Given the description of an element on the screen output the (x, y) to click on. 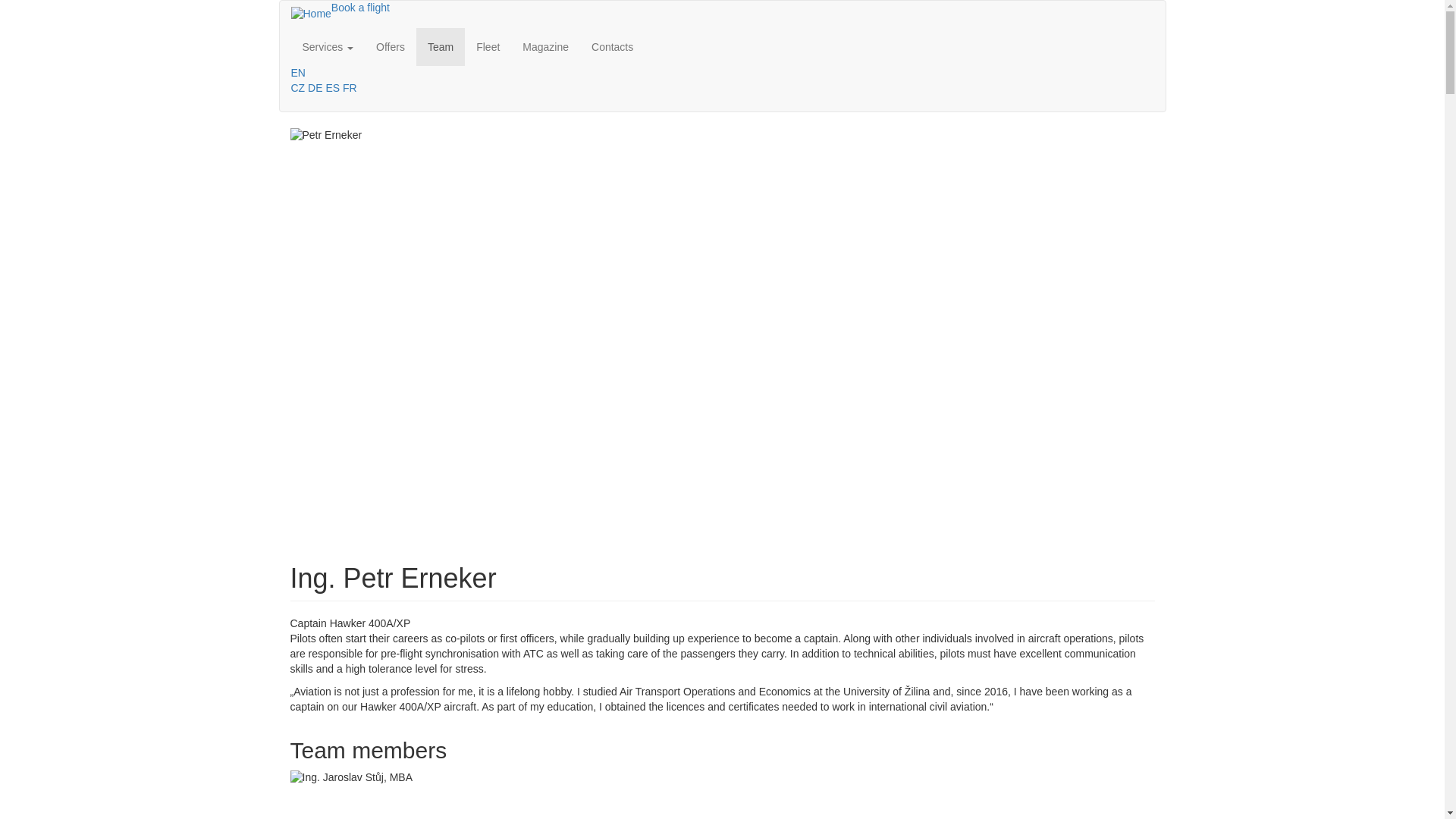
DE (314, 87)
Offers (390, 46)
Book a flight (360, 7)
EN (298, 72)
Contacts (612, 46)
FR (349, 87)
CZ (298, 87)
Team (440, 46)
Magazine (545, 46)
Fleet (487, 46)
